Given the description of an element on the screen output the (x, y) to click on. 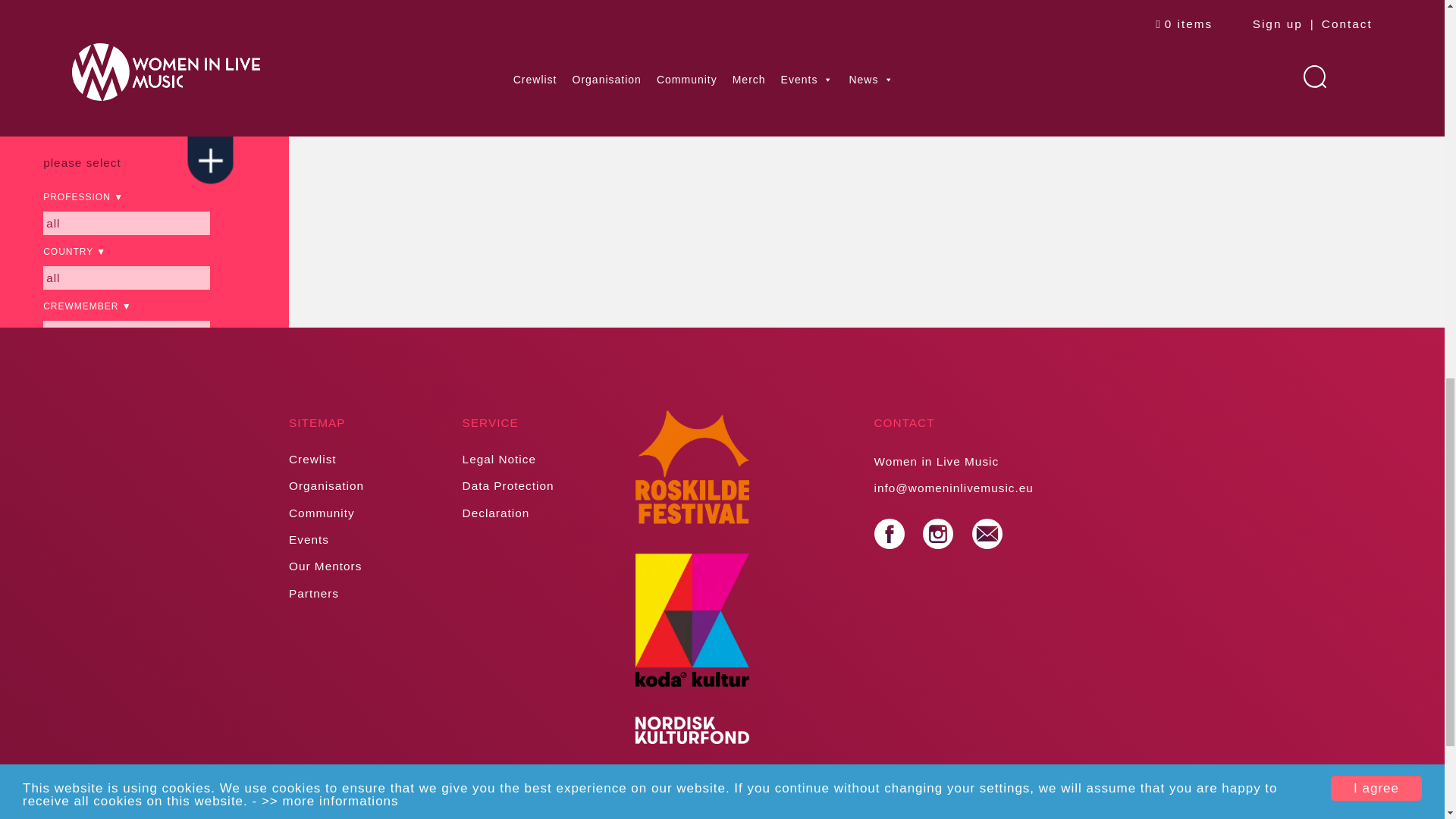
Organisation (326, 485)
Events (308, 539)
Community (321, 512)
Data Protection Declaration (508, 498)
Partners (313, 593)
instagram (938, 533)
facebook (888, 533)
Our Mentors (324, 565)
Legal Notice (499, 459)
Crewlist (312, 459)
